Given the description of an element on the screen output the (x, y) to click on. 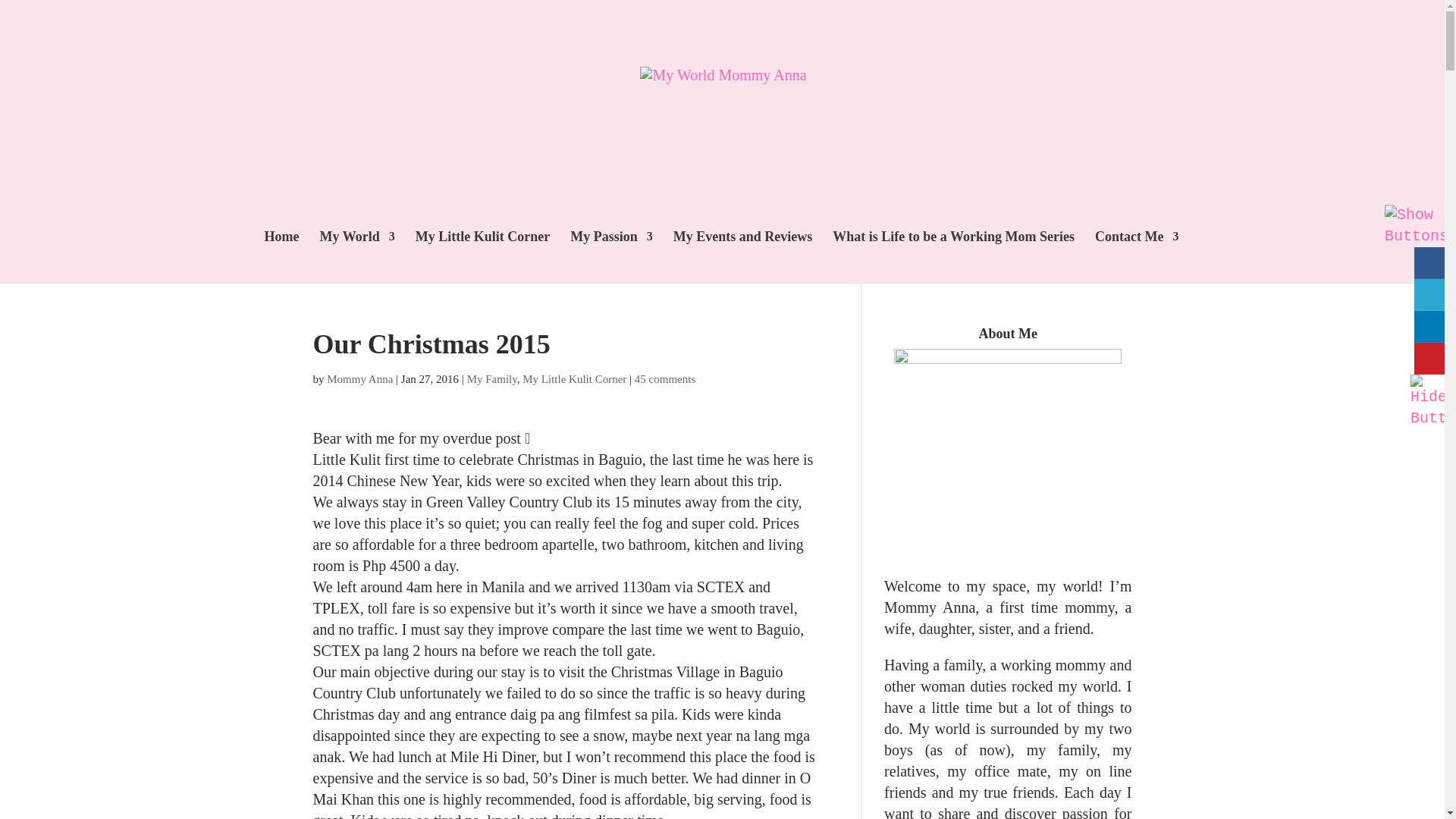
My Passion (611, 256)
Posts by Mommy Anna (359, 378)
45 comments (664, 378)
My Family (491, 378)
Mommy Anna (359, 378)
My Little Kulit Corner (574, 378)
What is Life to be a Working Mom Series (953, 256)
Contact Me (1135, 256)
My Little Kulit Corner (482, 256)
My Events and Reviews (742, 256)
